Given the description of an element on the screen output the (x, y) to click on. 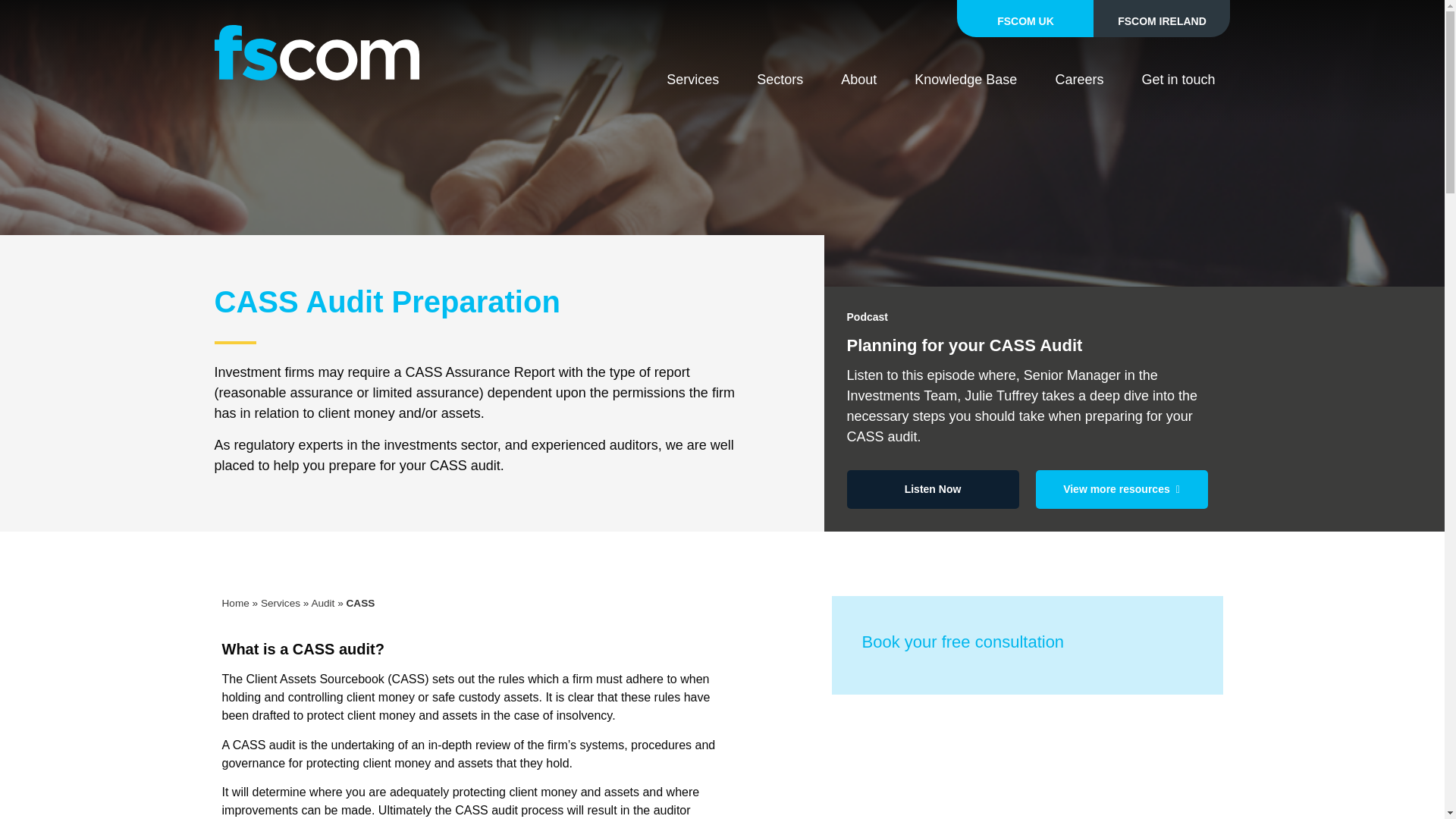
Sectors (779, 79)
FSCOM IRELAND (1161, 18)
Services (691, 79)
FSCOM UK (1024, 18)
